Given the description of an element on the screen output the (x, y) to click on. 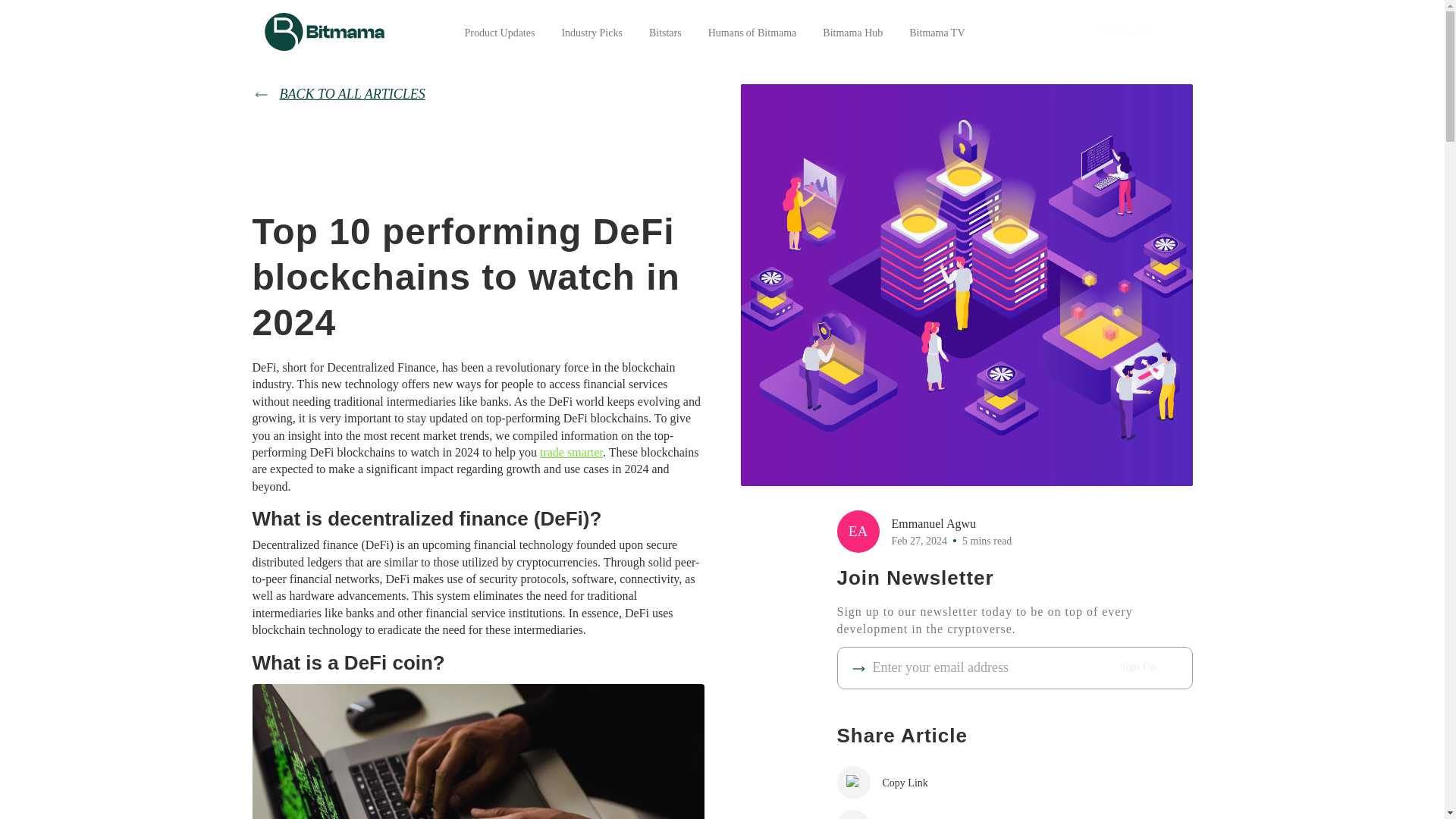
Twitter (905, 814)
Bitmama TV (935, 32)
Bitstars (665, 32)
BACK TO ALL ARTICLES (477, 94)
Bitmama Hub (852, 32)
Product Updates (499, 32)
Humans of Bitmama (751, 32)
Get Started (1125, 31)
Industry Picks (591, 32)
Sign Up (1137, 666)
trade smarter (571, 451)
Get Started (1125, 33)
